Given the description of an element on the screen output the (x, y) to click on. 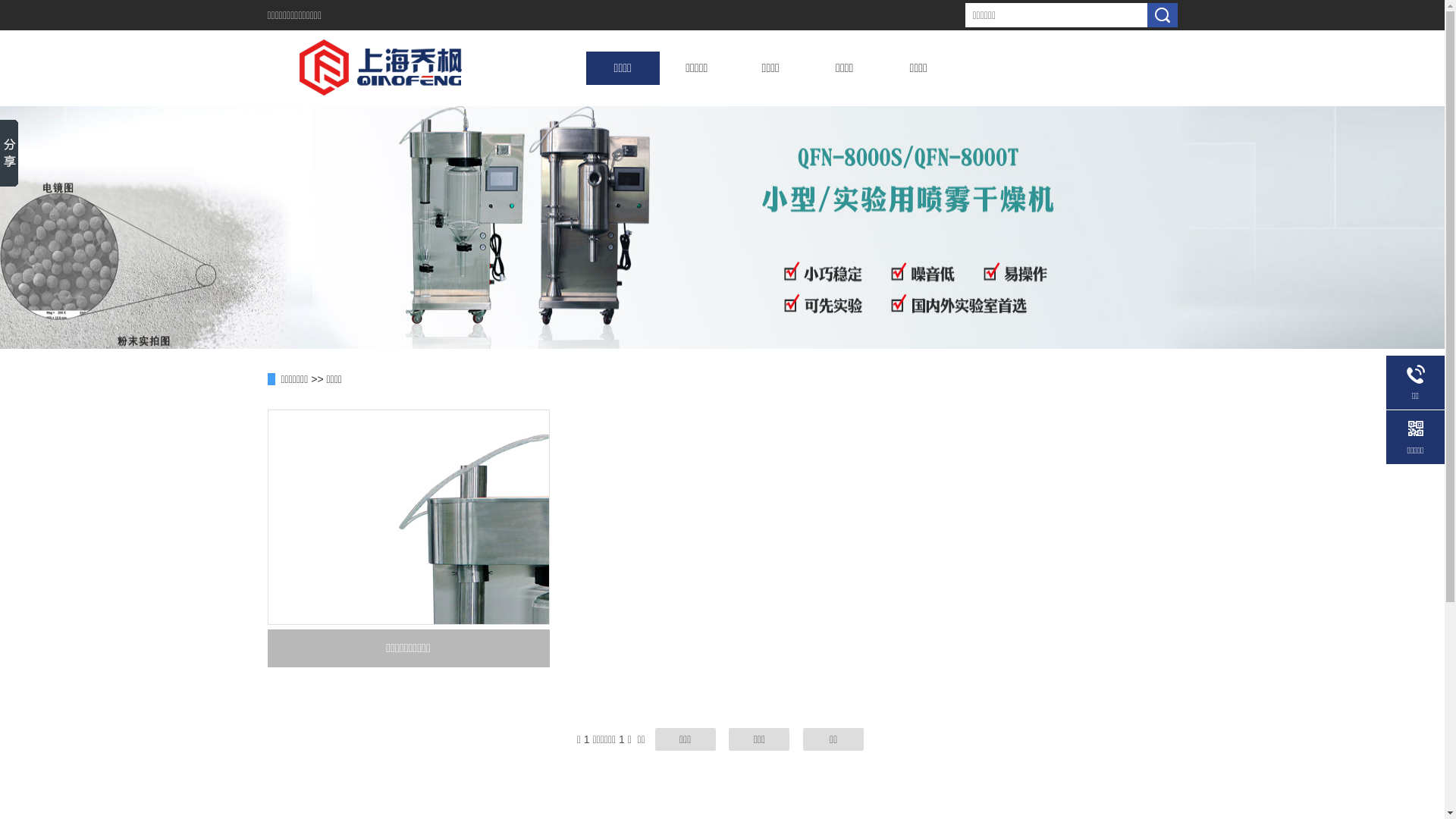
  Element type: text (1161, 15)
